Given the description of an element on the screen output the (x, y) to click on. 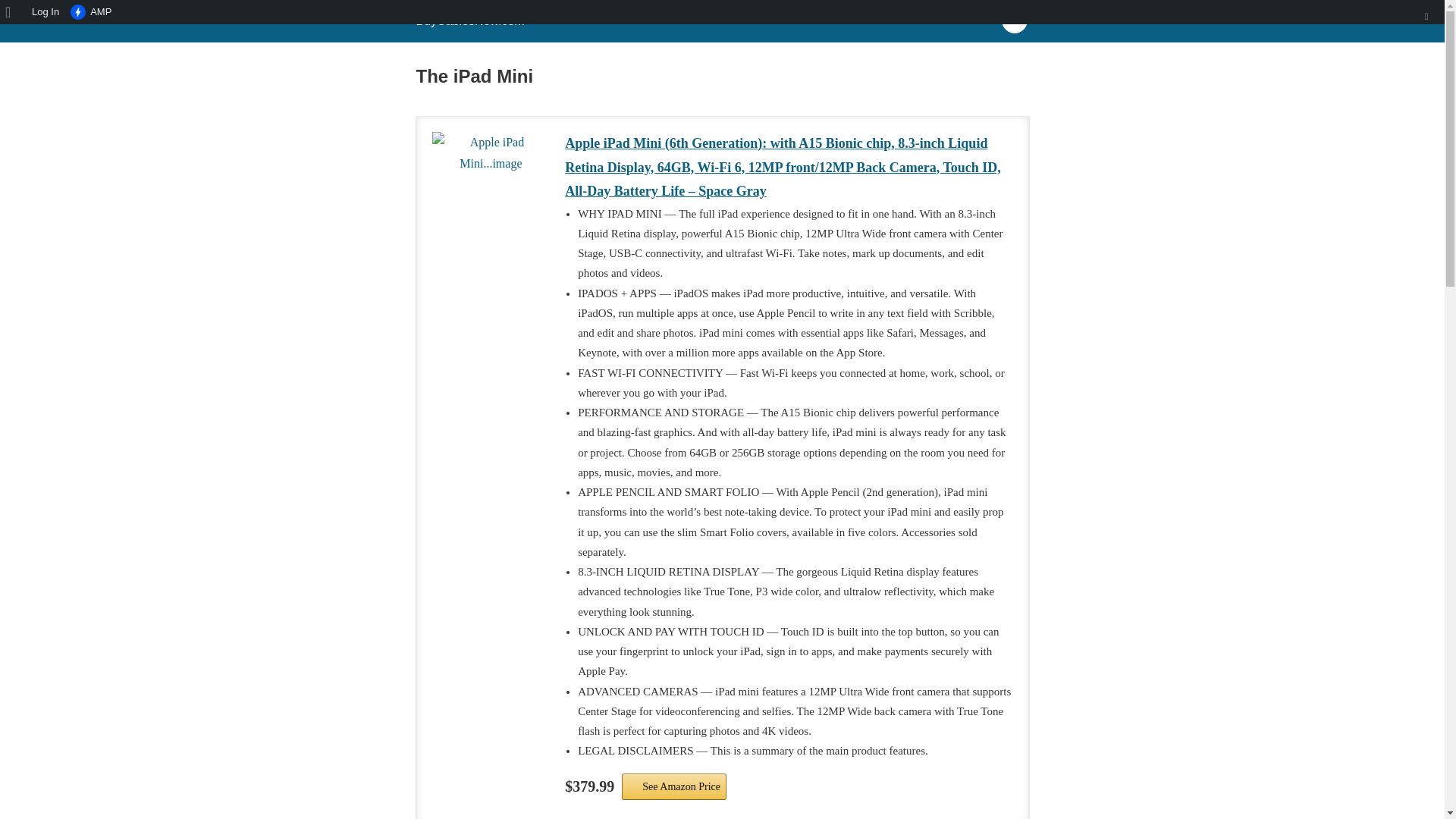
Log In (45, 12)
BuyCablesNow.com (469, 20)
View non-AMP version (91, 12)
Search (16, 13)
The iPad Mini 1 (491, 190)
See Amazon Price (673, 786)
AMP (91, 12)
